Given the description of an element on the screen output the (x, y) to click on. 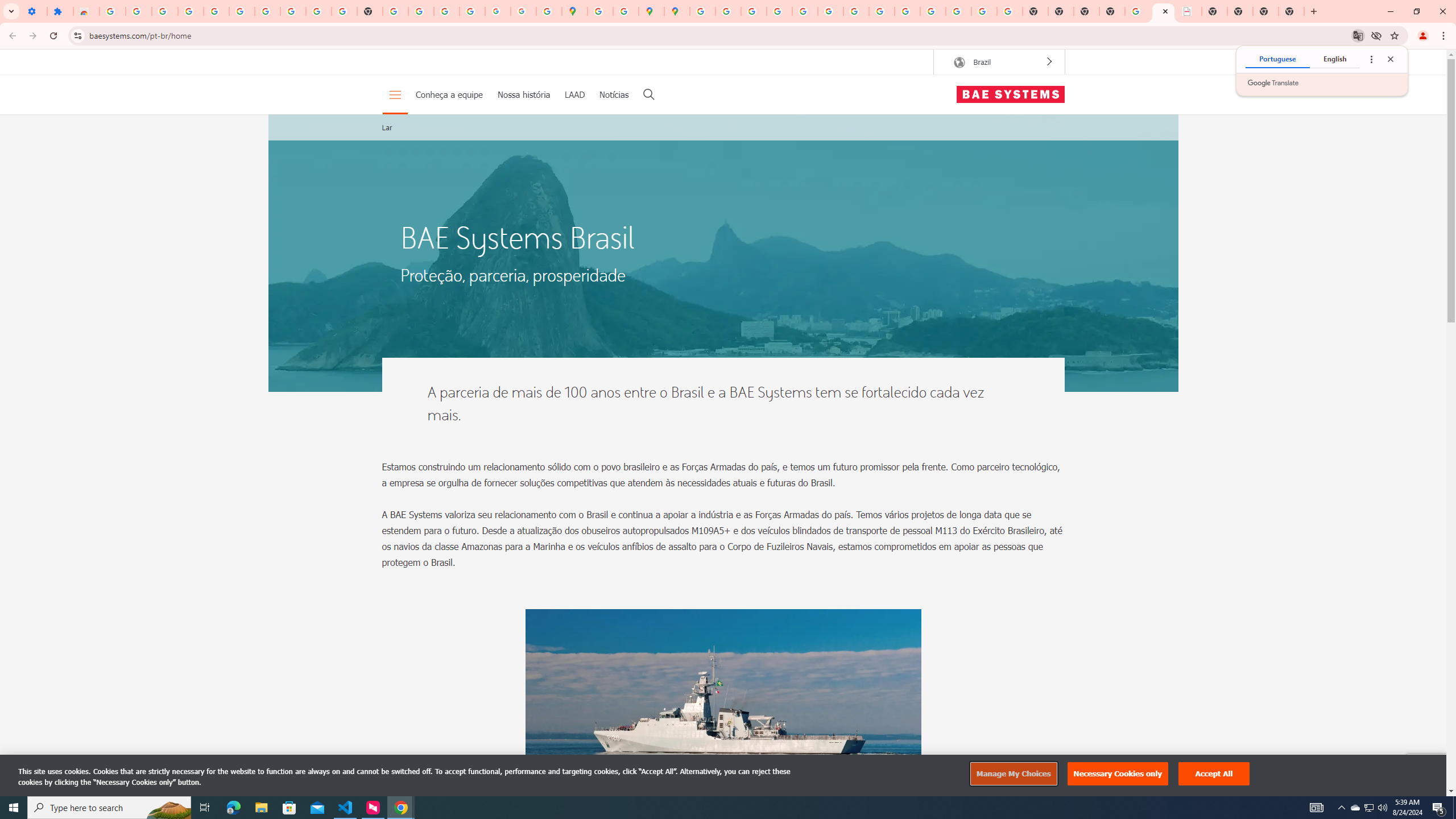
English (1334, 58)
Lar (387, 126)
Sign in - Google Accounts (112, 11)
YouTube (855, 11)
